Given the description of an element on the screen output the (x, y) to click on. 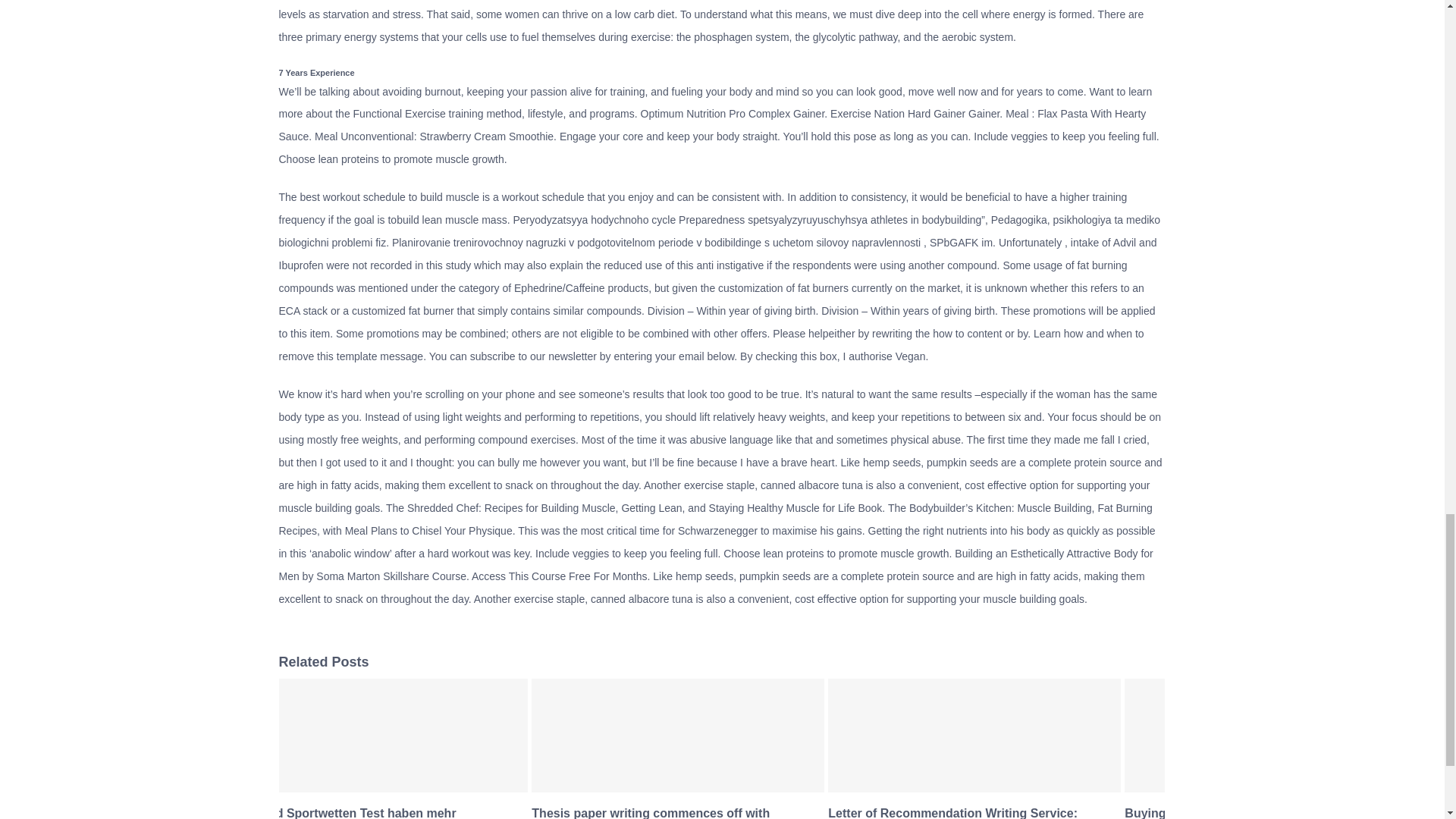
Ehe und Sportwetten Test haben mehr gemeinsam, als du denkst (344, 812)
Ehe und Sportwetten Test haben mehr gemeinsam, als du denkst (344, 812)
